Given the description of an element on the screen output the (x, y) to click on. 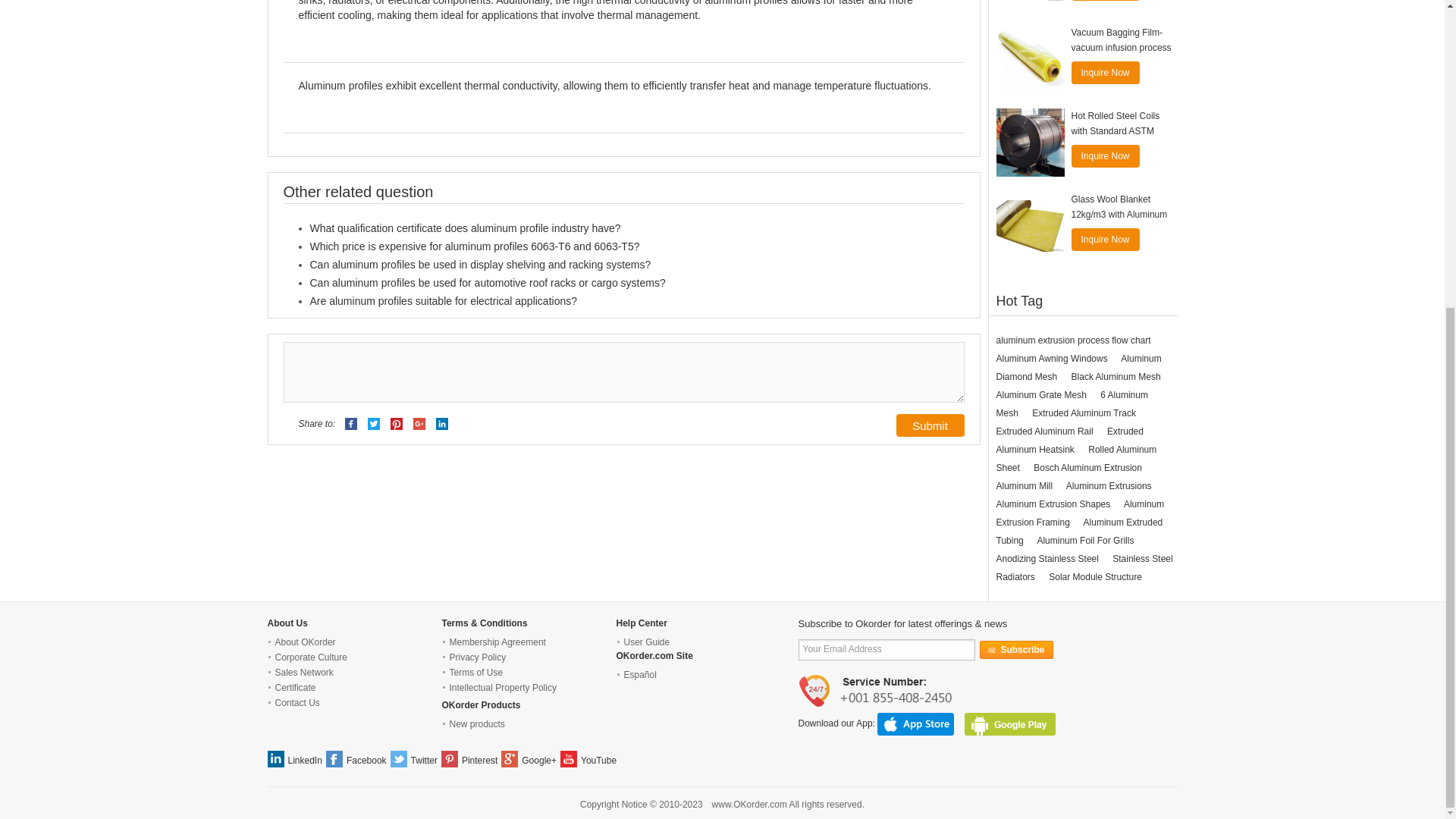
Your Email Address (885, 649)
Okorder Vacuum Bagging Film-vacuum infusion process (1029, 59)
Okorder Hot Rolled Steel Coils with Standard ASTM (1029, 142)
Submit (929, 425)
LinkedIn (441, 423)
Twitter (374, 423)
Pinterest (396, 423)
LinkedIn (441, 423)
Tweet (374, 423)
Pinterest (396, 423)
Facebook (351, 423)
Facebook (350, 423)
Subscribe (1015, 649)
